Given the description of an element on the screen output the (x, y) to click on. 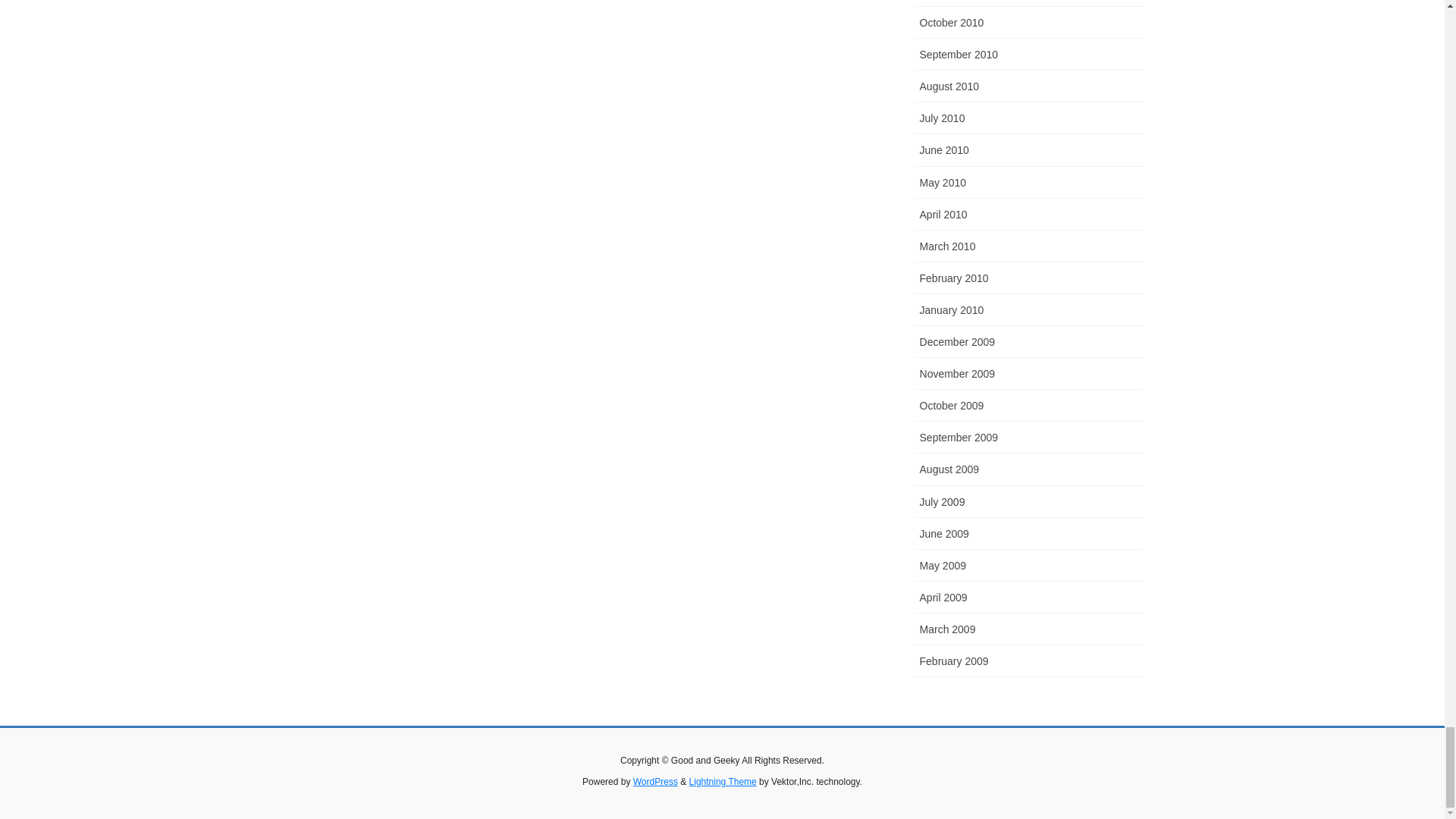
Free WordPress Theme Lightning (722, 781)
